Given the description of an element on the screen output the (x, y) to click on. 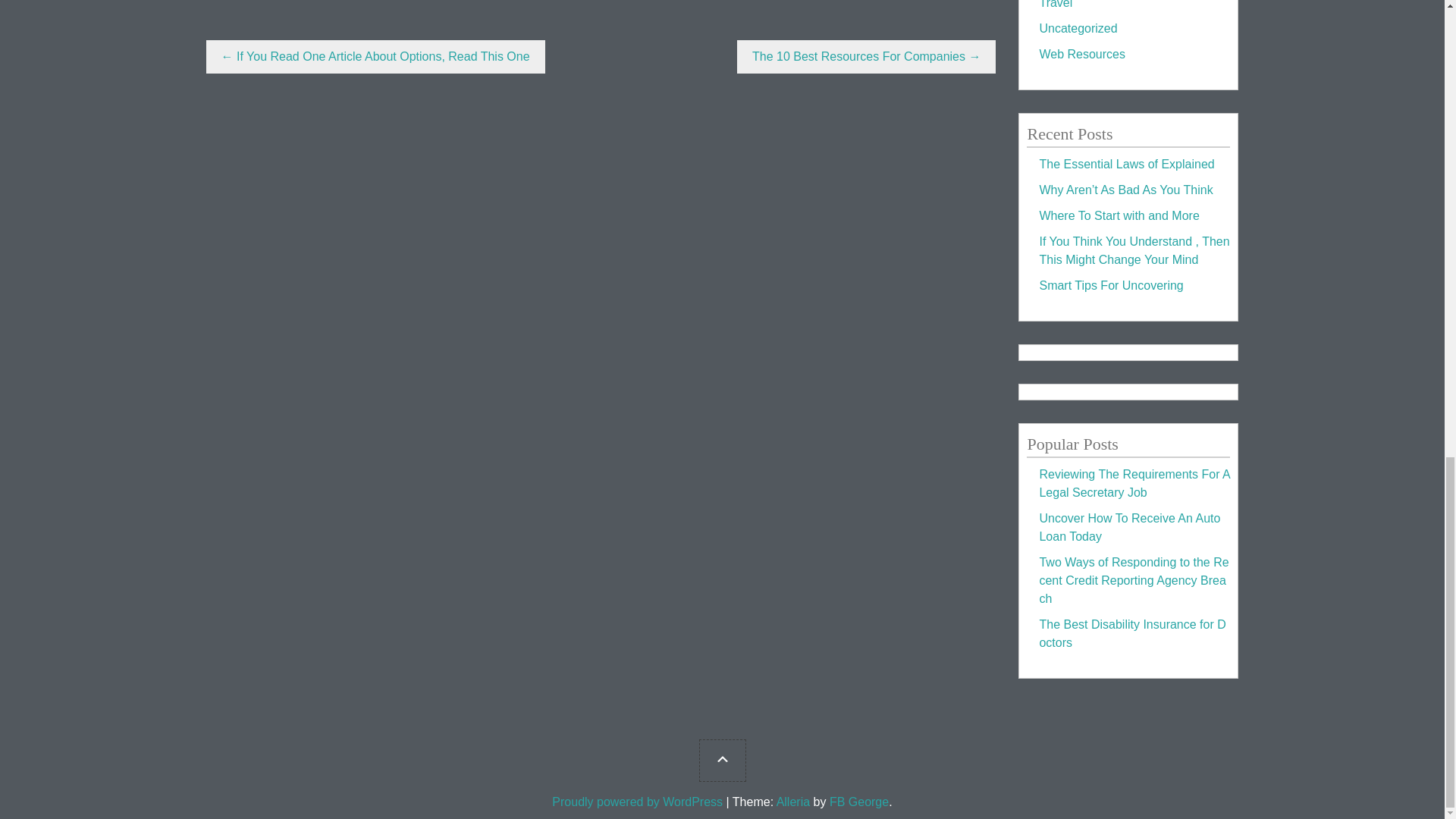
Reviewing The Requirements For A Legal Secretary Job (1133, 482)
Uncover How To Receive An Auto Loan Today (1129, 526)
Web Resources (1082, 53)
Uncategorized (1077, 28)
The Best Disability Insurance for Doctors (1132, 633)
Travel (1055, 4)
